Given the description of an element on the screen output the (x, y) to click on. 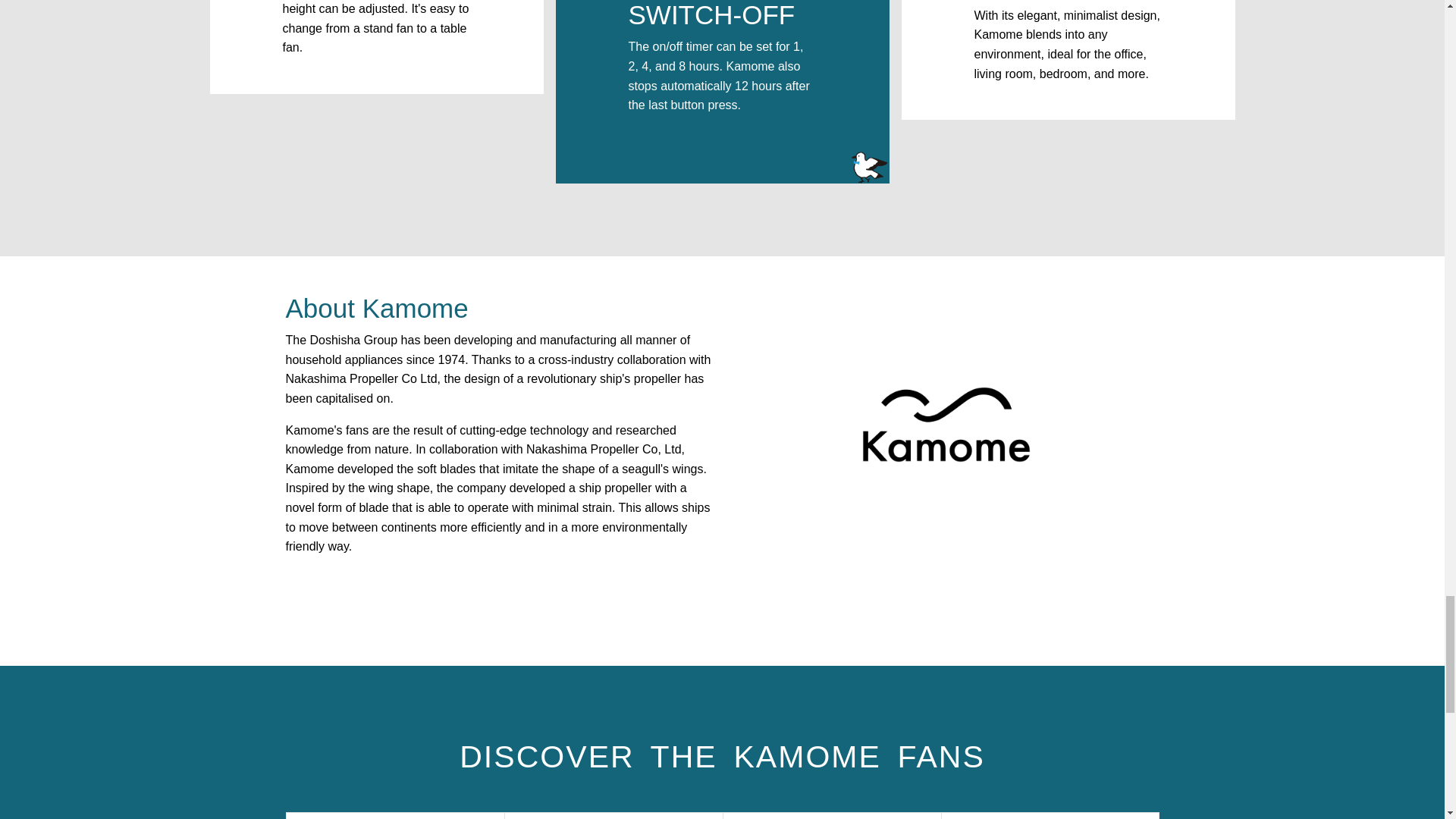
Kamome Logo schwarz (946, 424)
